Given the description of an element on the screen output the (x, y) to click on. 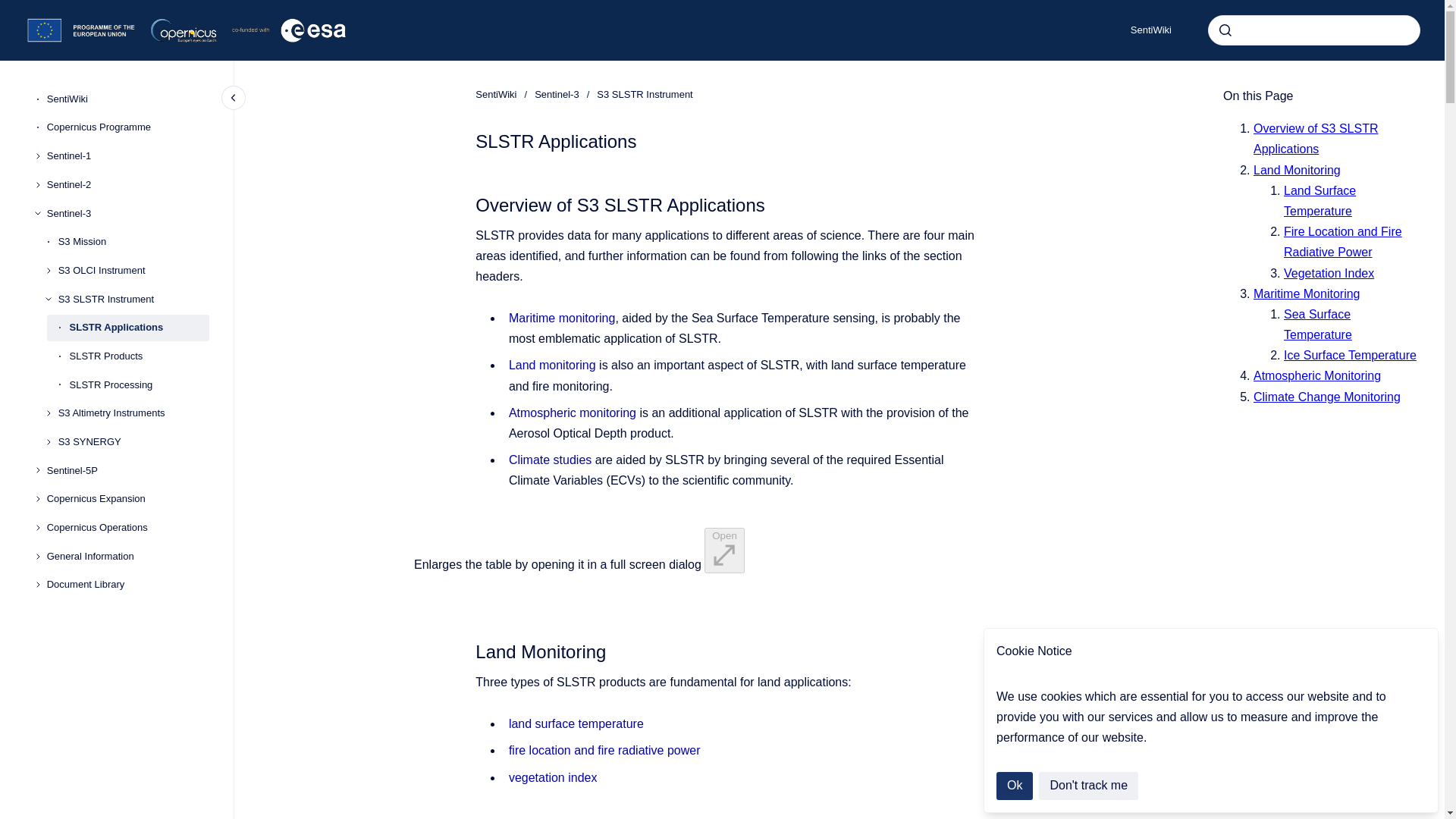
SLSTR Products (139, 356)
Copernicus Programme (127, 127)
Go to homepage (186, 30)
S3 SLSTR Instrument (133, 298)
SLSTR Processing (139, 384)
SentiWiki (1150, 29)
Copernicus Operations (127, 527)
S3 Mission (133, 241)
Ok (1013, 786)
Don't track me (1088, 786)
